Given the description of an element on the screen output the (x, y) to click on. 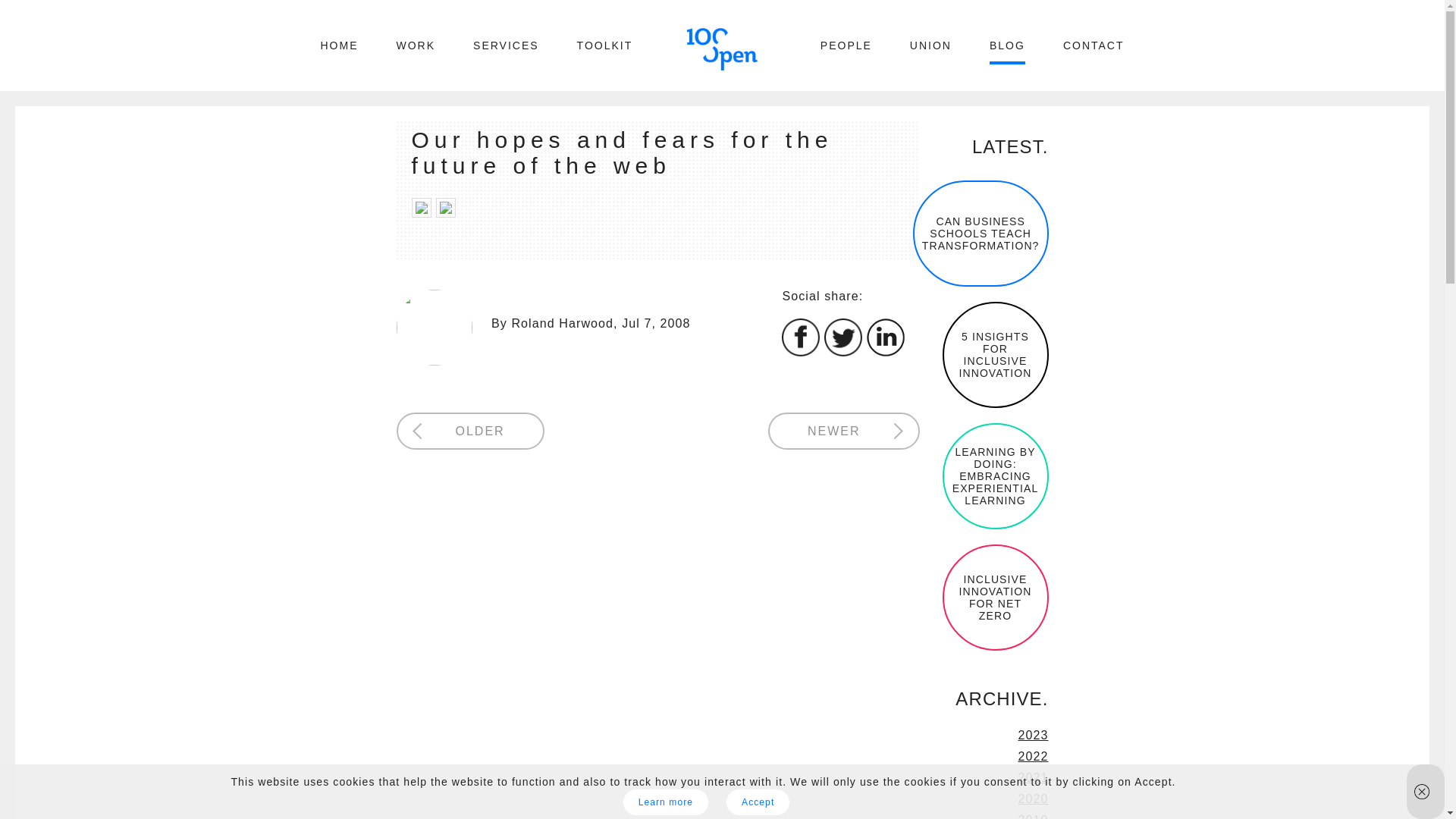
Share on Linkedin (885, 351)
2023 (1032, 735)
2021 (1032, 777)
INCLUSIVE INNOVATION FOR NET ZERO (995, 597)
Share on Twitter (842, 351)
CAN BUSINESS SCHOOLS TEACH TRANSFORMATION? (980, 233)
Wordle: Hopes for the future of the web (420, 212)
Share on Facebook (800, 351)
OLDER (469, 430)
2022 (1032, 756)
